Given the description of an element on the screen output the (x, y) to click on. 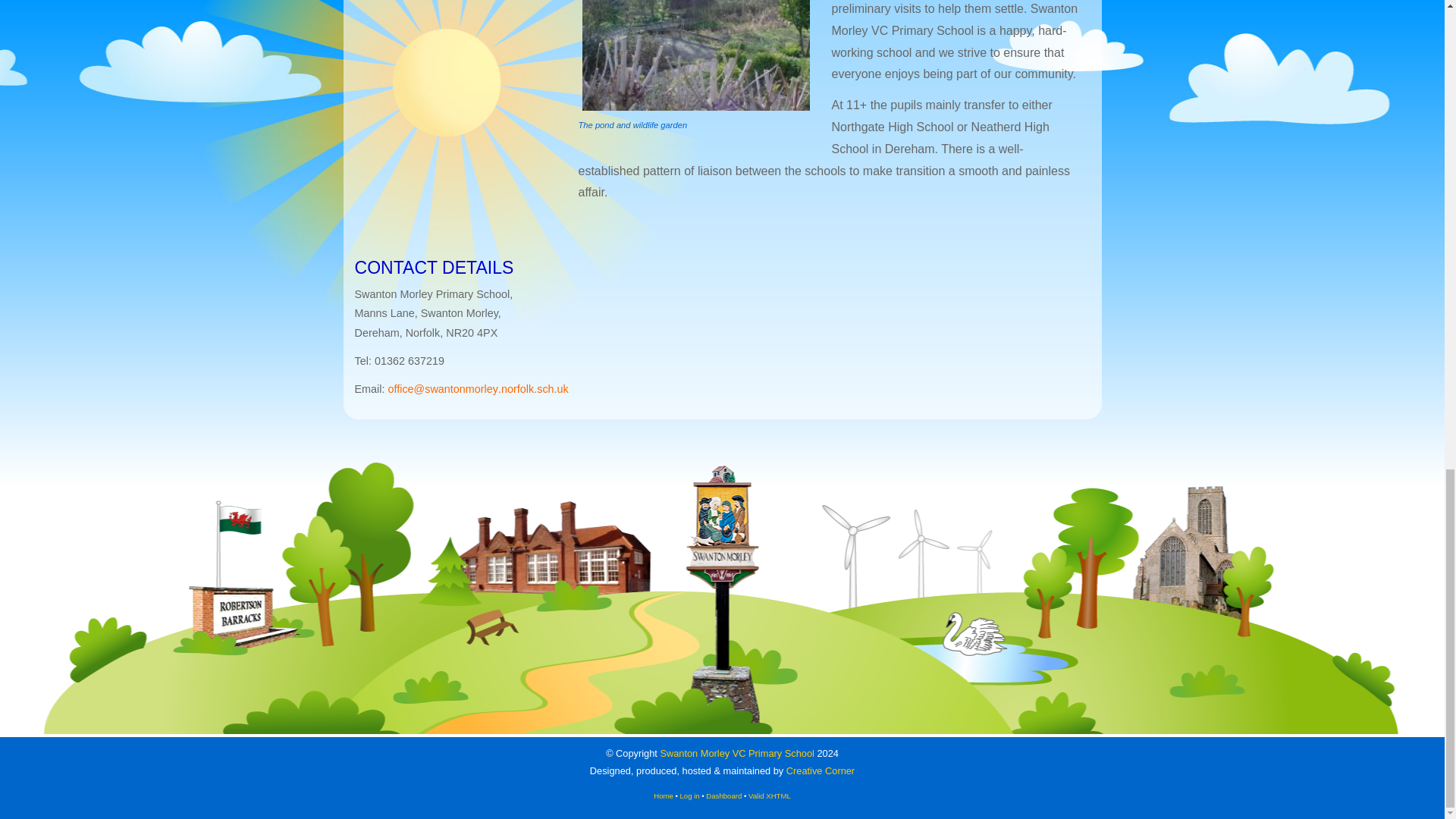
Valid XHTML (769, 795)
Wordpress Dashboard (723, 795)
Back to Home Page (662, 795)
Click to visit the Creative Corner website (820, 770)
